Given the description of an element on the screen output the (x, y) to click on. 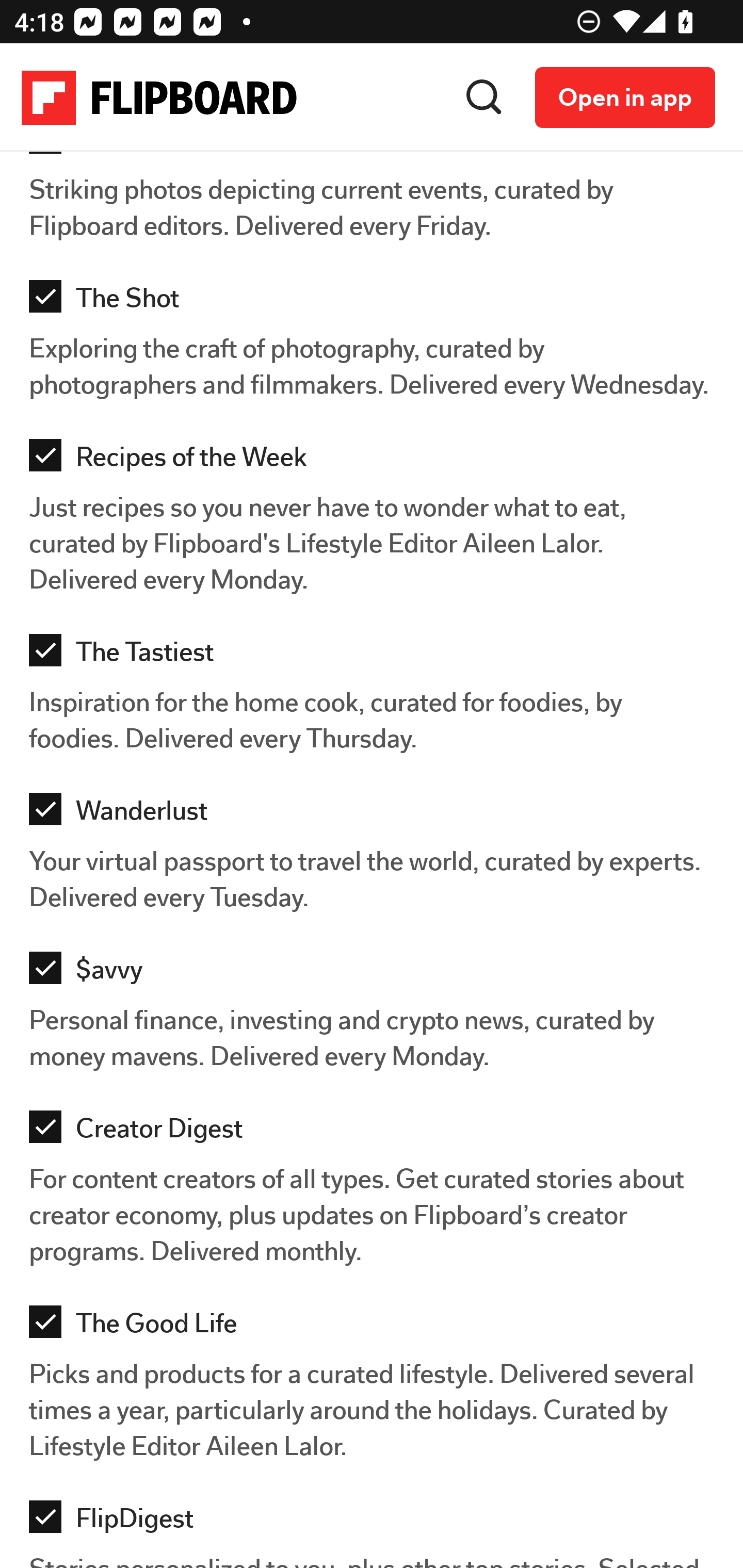
Open in app (625, 99)
Search (484, 97)
checkmark The Shot (376, 302)
checkmark Recipes of the Week (376, 460)
checkmark The Tastiest (376, 655)
checkmark Wanderlust (376, 815)
checkmark $avvy (376, 973)
checkmark Creator Digest (376, 1132)
checkmark The Good Life (376, 1327)
checkmark FlipDigest (376, 1522)
